Given the description of an element on the screen output the (x, y) to click on. 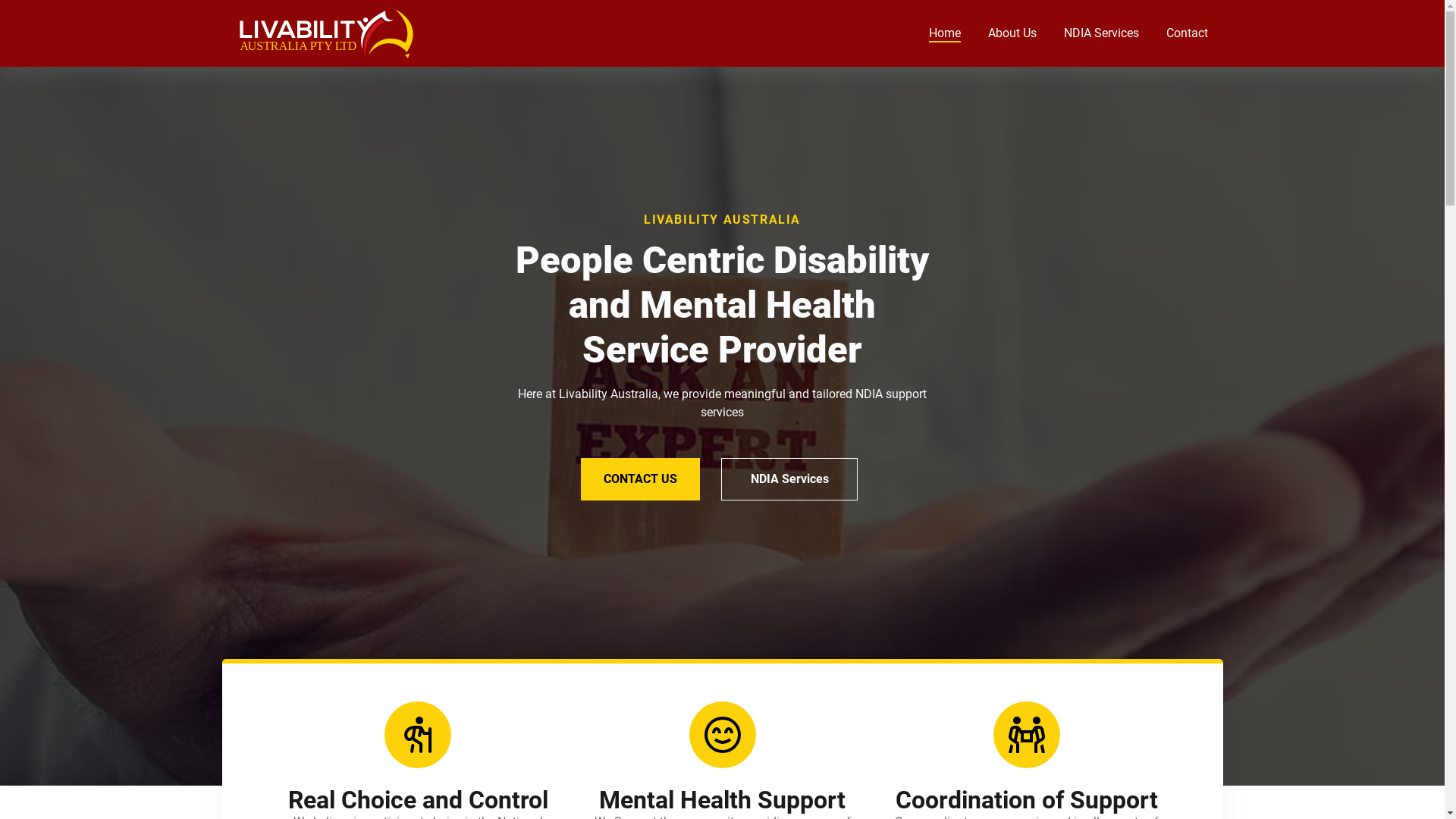
CONTACT US Element type: text (639, 479)
About Us Element type: text (1011, 33)
Home Element type: text (944, 33)
NDIA Services Element type: text (1100, 33)
Contact Element type: text (1187, 33)
NDIA Services Element type: text (789, 479)
